Given the description of an element on the screen output the (x, y) to click on. 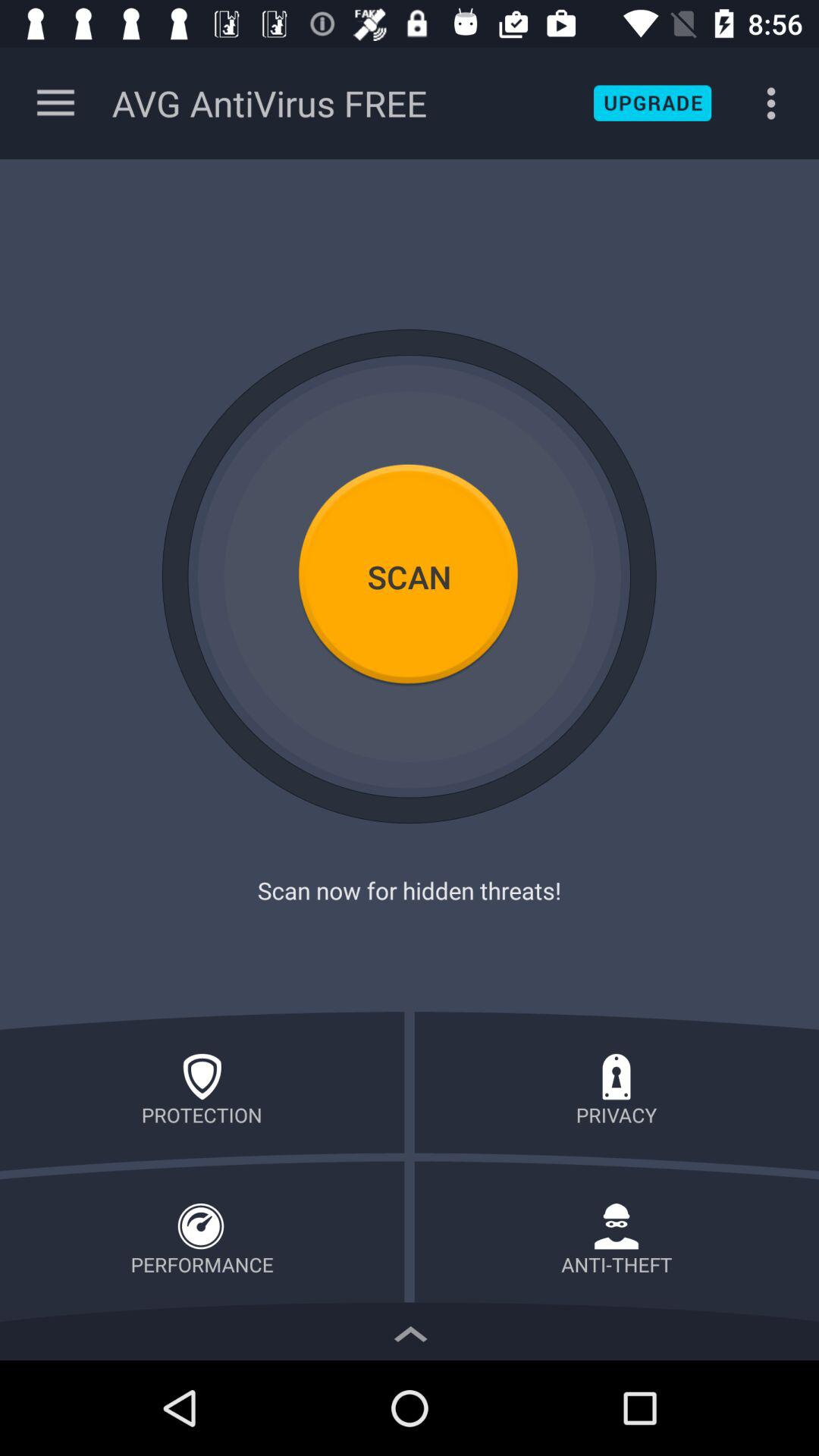
click to the upgrade (652, 103)
